Given the description of an element on the screen output the (x, y) to click on. 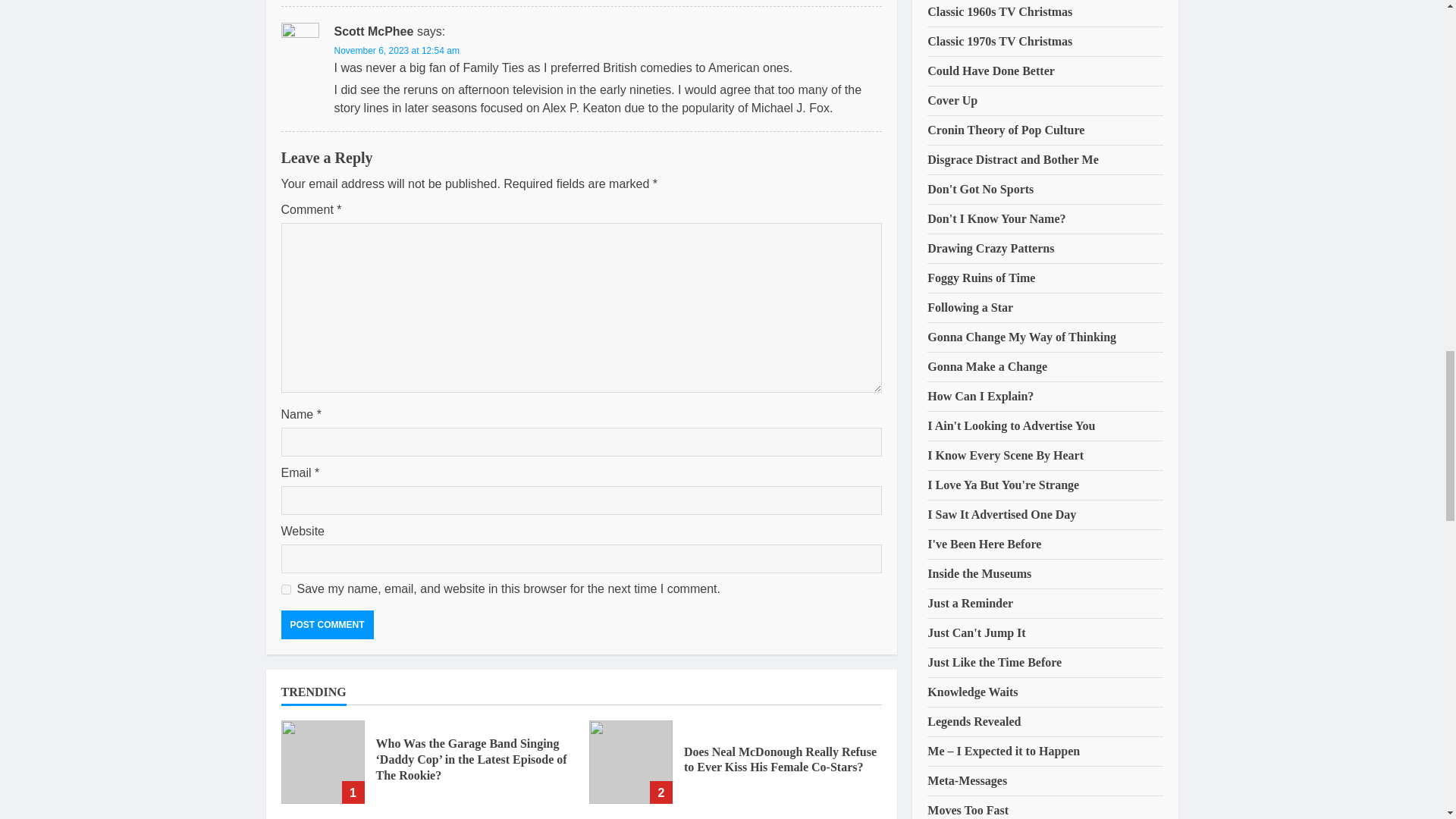
Post Comment (326, 624)
yes (285, 589)
Post Comment (326, 624)
November 6, 2023 at 12:54 am (395, 50)
